Given the description of an element on the screen output the (x, y) to click on. 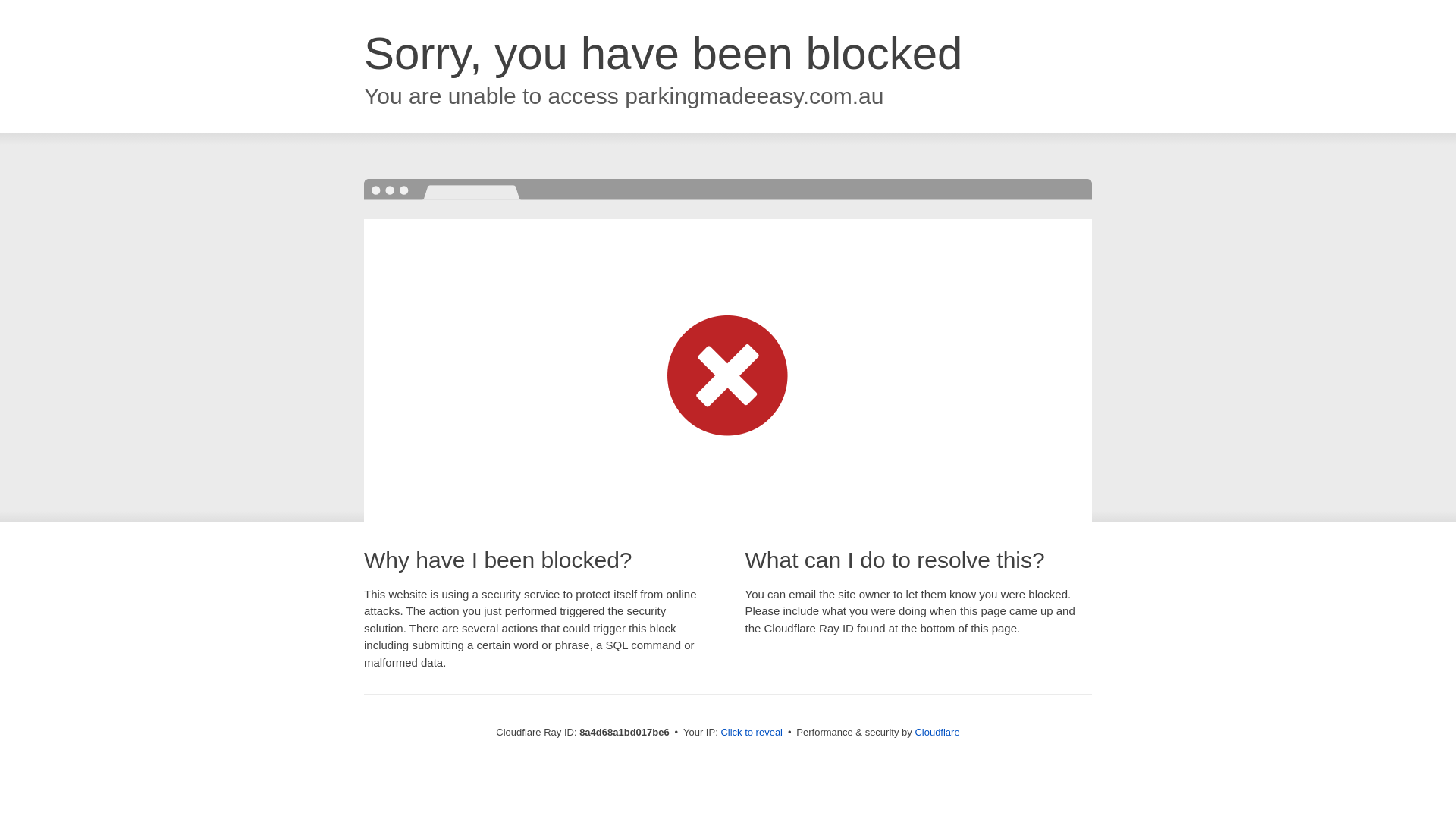
Click to reveal (751, 732)
Cloudflare (936, 731)
